Given the description of an element on the screen output the (x, y) to click on. 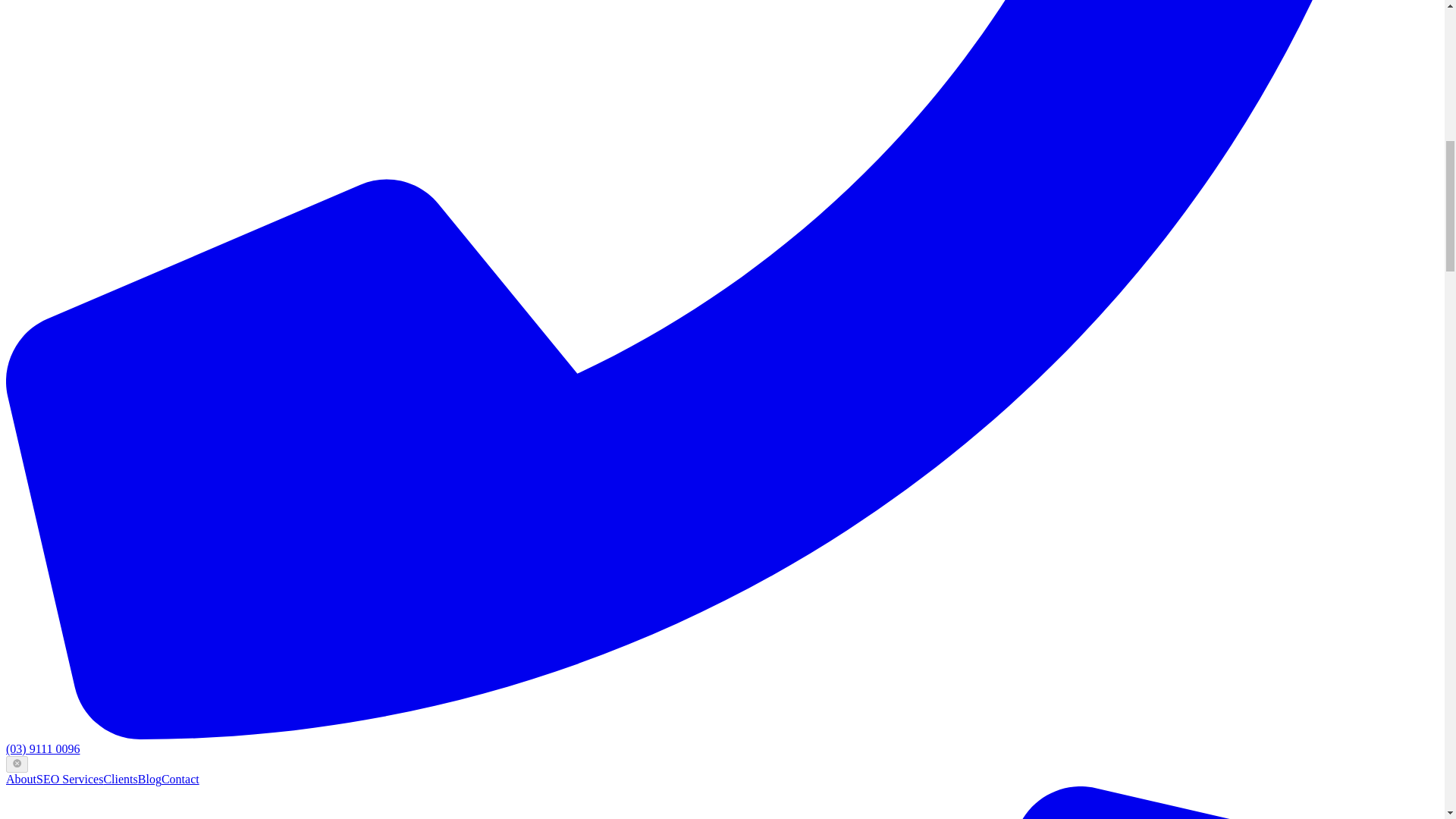
Contact (180, 779)
SEO Services (69, 779)
Blog (149, 779)
About (20, 779)
Clients (119, 779)
